Given the description of an element on the screen output the (x, y) to click on. 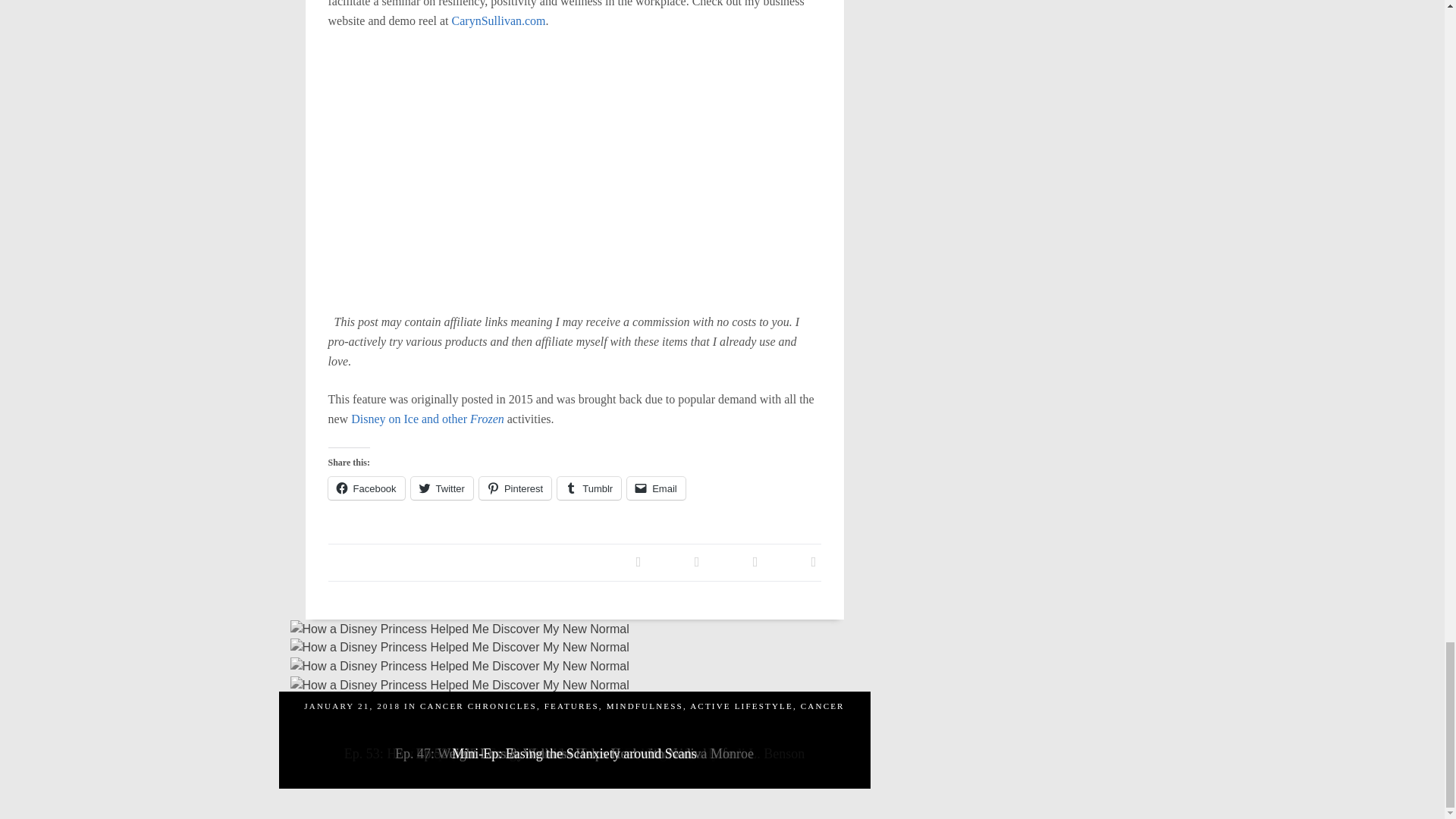
Facebook Share (637, 561)
Click to share on Twitter (441, 487)
Click to share on Facebook (365, 487)
Click to share on Pinterest (515, 487)
Twitter Share (696, 561)
Click to email a link to a friend (656, 487)
Click to share on Tumblr (589, 487)
